Given the description of an element on the screen output the (x, y) to click on. 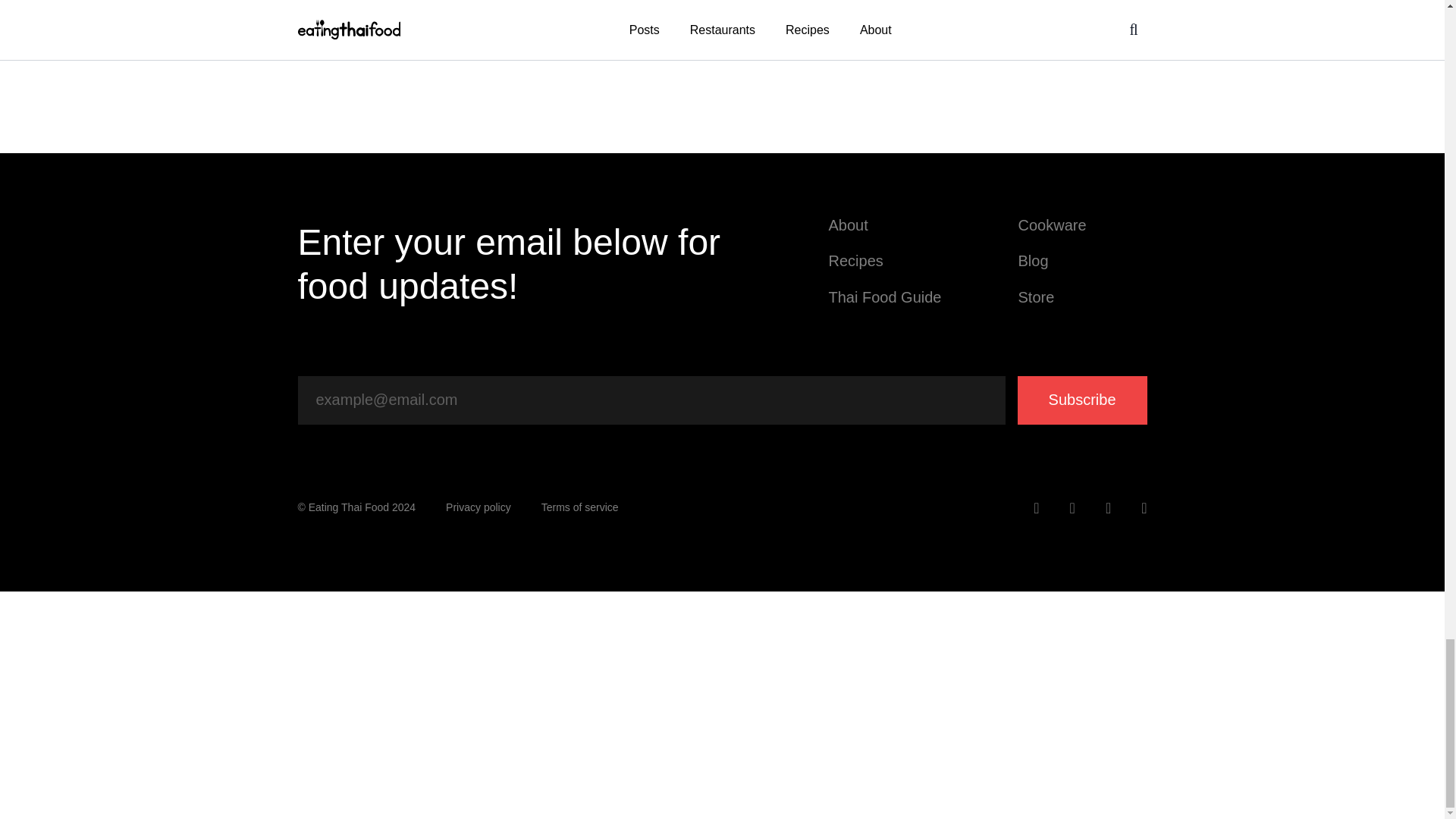
Cookware (1082, 225)
Store (1082, 297)
Privacy policy (477, 507)
About (892, 225)
Recipes (892, 261)
Terms of service (579, 507)
Thai Food Guide (892, 297)
Subscribe (1082, 400)
Blog (1082, 261)
